Given the description of an element on the screen output the (x, y) to click on. 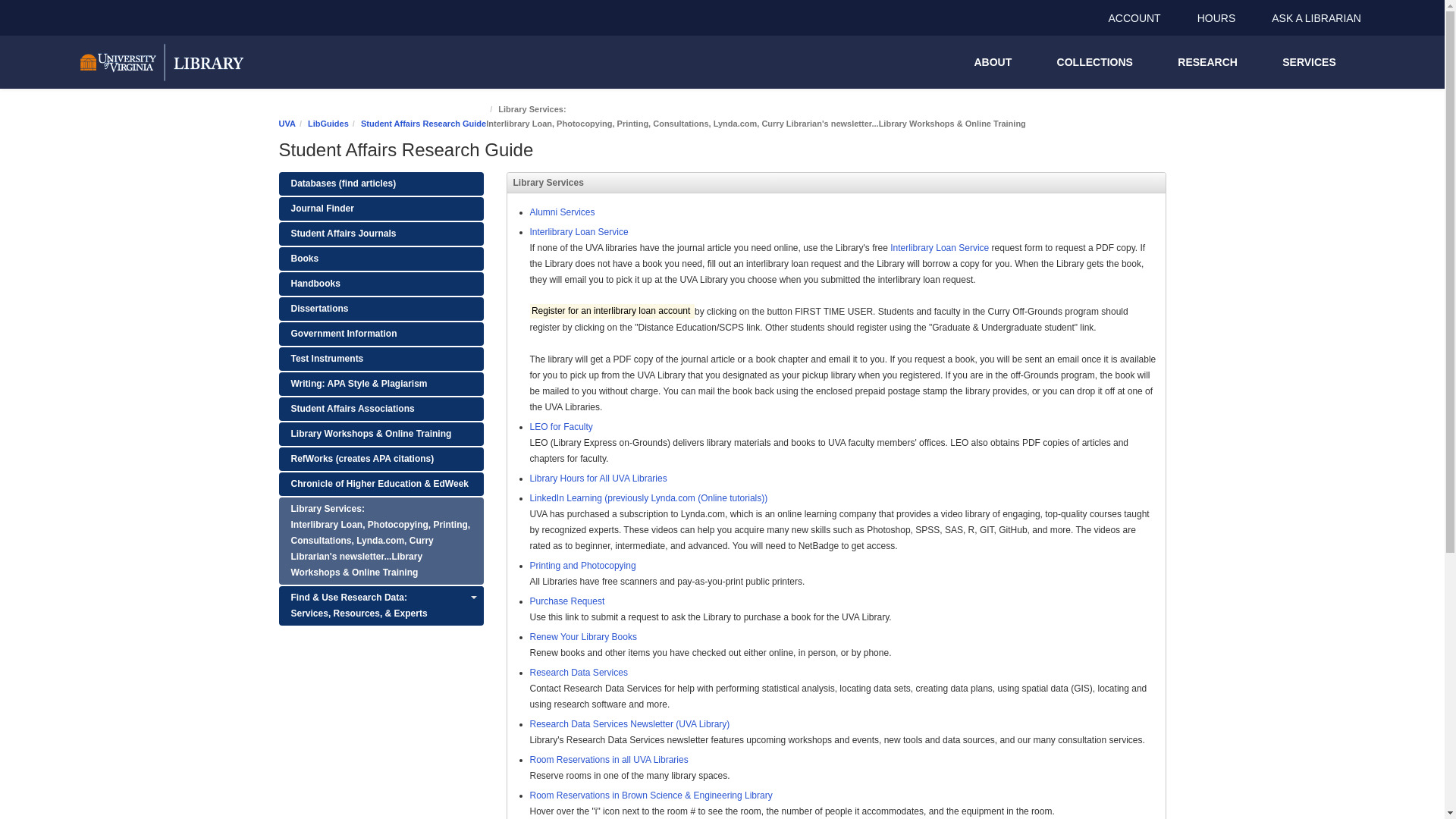
Toggle Dropdown (473, 597)
Dissertations (381, 309)
Test Instruments (381, 359)
RESEARCH (1207, 62)
Find resources, white papers, and more. (381, 408)
Alumni Services (561, 211)
Student Affairs Research Guide (423, 122)
Find dissertations from UVA and around the world. (381, 309)
LibGuides (328, 122)
SERVICES (1308, 62)
